Given the description of an element on the screen output the (x, y) to click on. 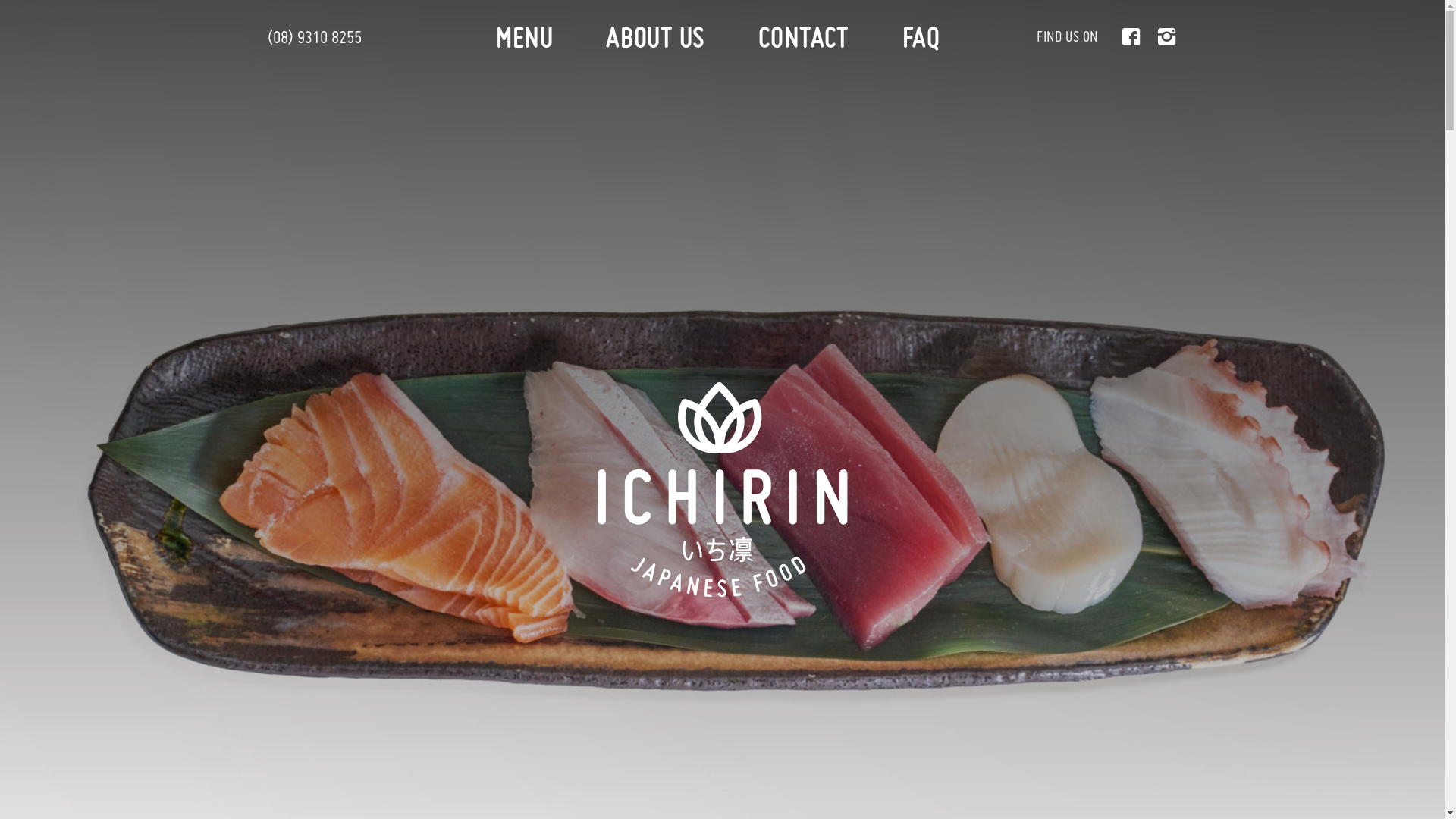
Ichirin Japanese Food Element type: text (722, 489)
MENU Element type: text (523, 41)
CONTACT Element type: text (803, 41)
(08) 9310 8255 Element type: text (313, 39)
ABOUT US Element type: text (655, 41)
FAQ Element type: text (920, 41)
